Given the description of an element on the screen output the (x, y) to click on. 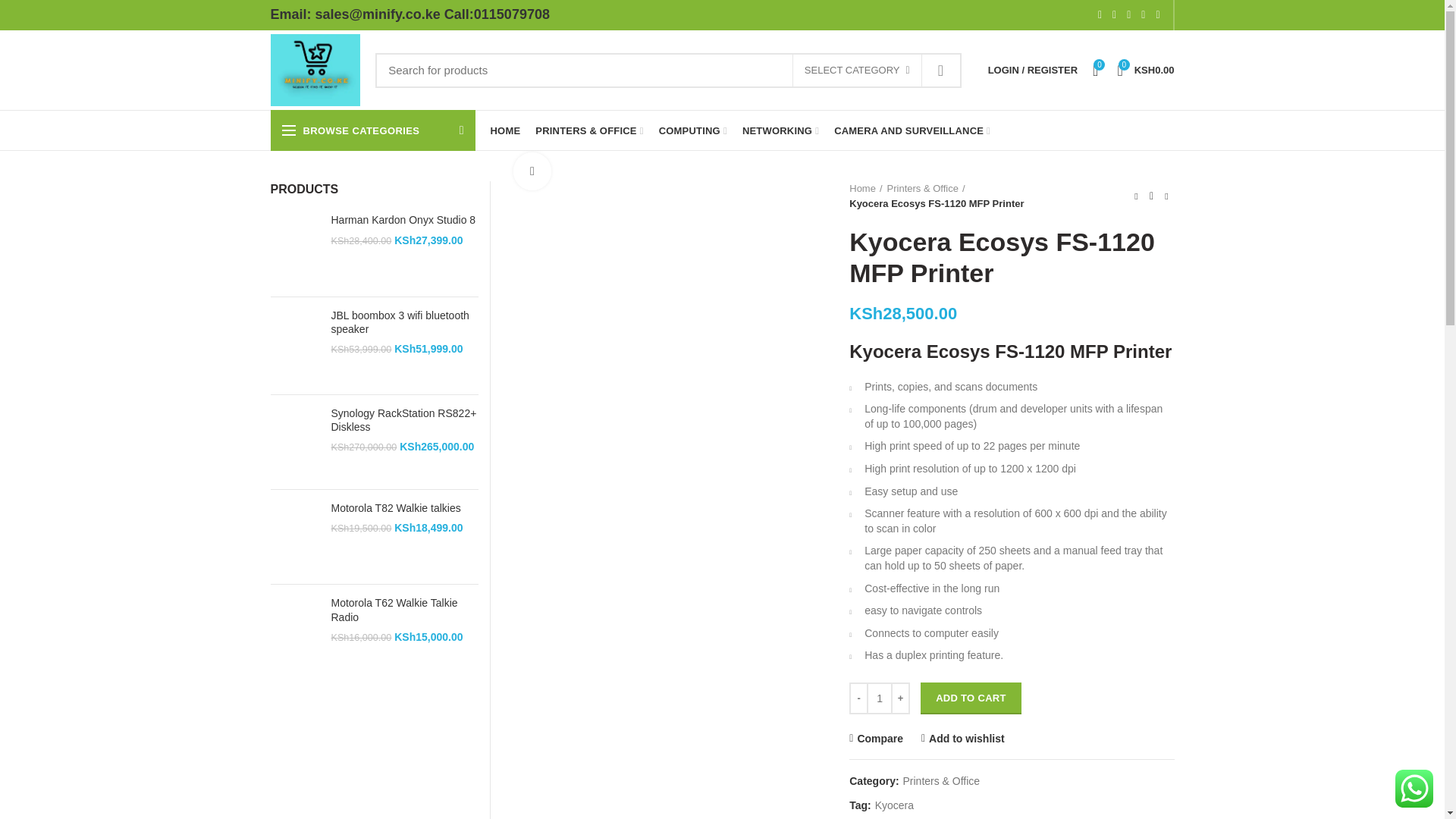
SELECT CATEGORY (856, 70)
Harman Kardon Onyx Studio 8 (404, 219)
Shopping cart (1144, 69)
My account (1031, 69)
SELECT CATEGORY (857, 70)
